Given the description of an element on the screen output the (x, y) to click on. 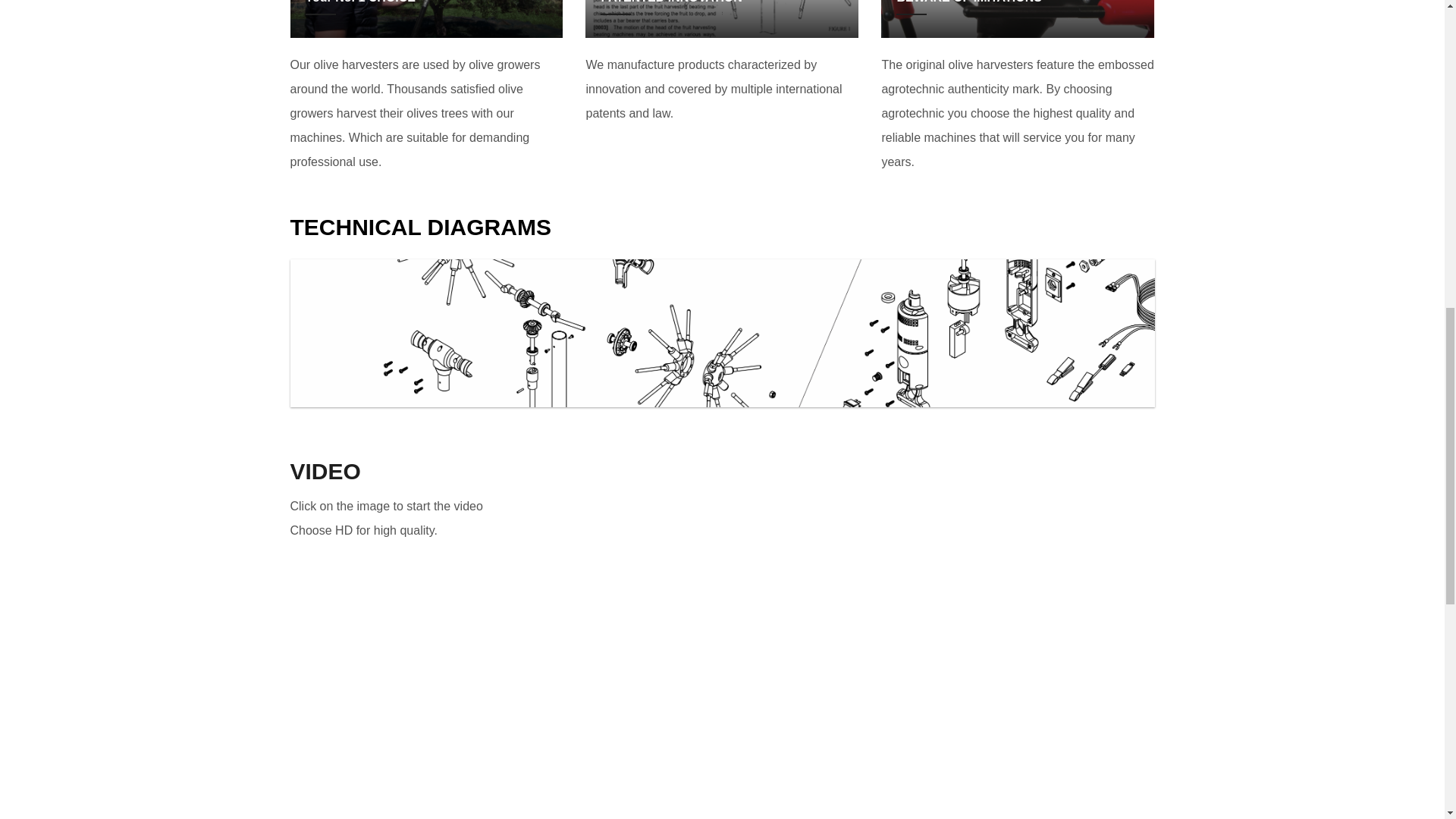
agrotechnic technical diagrams (721, 332)
agrotechnic olive harvester xquattro supervelove (425, 19)
agrotechnic olive harvester xquattro supervelove original (1017, 19)
